Given the description of an element on the screen output the (x, y) to click on. 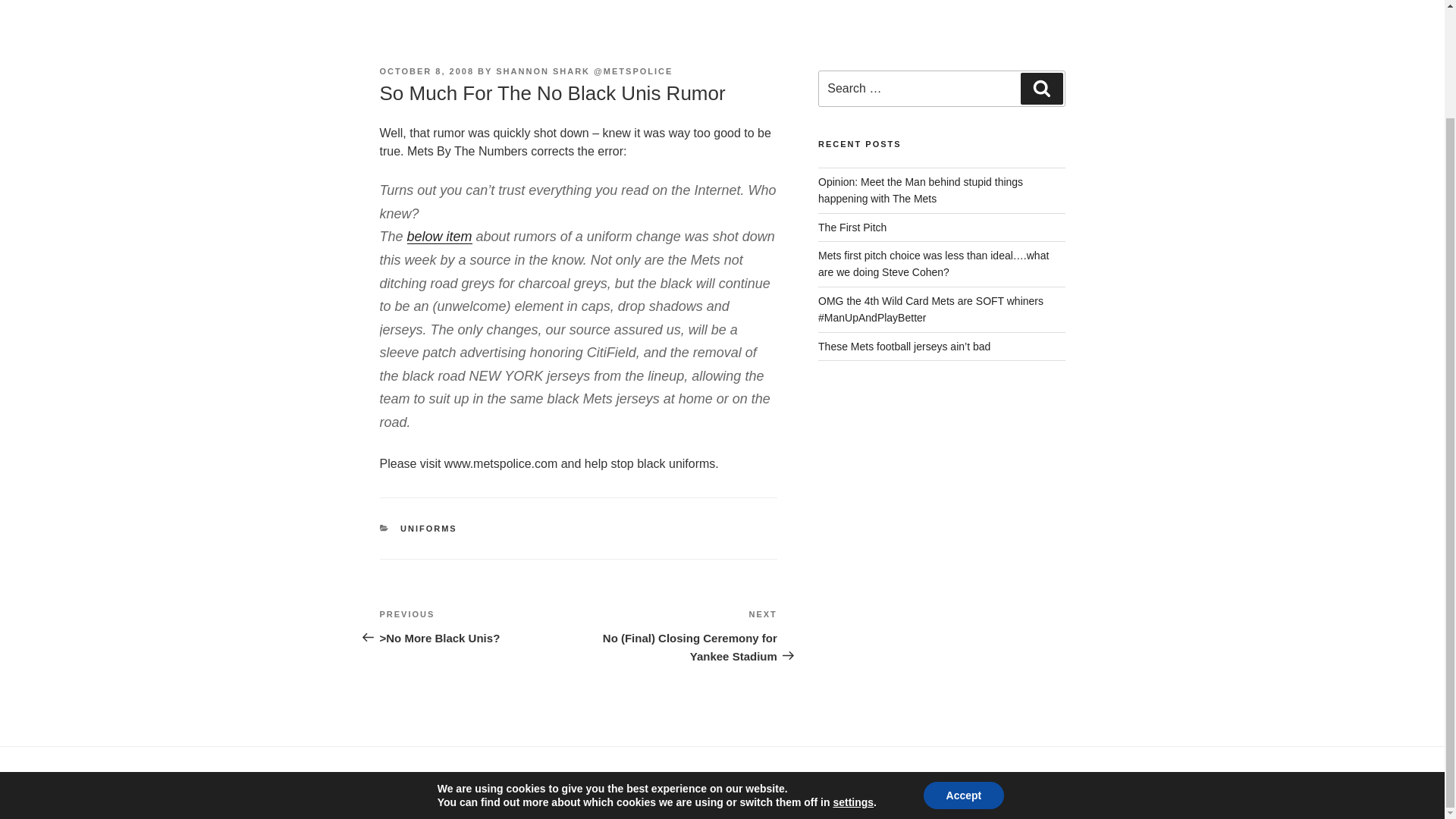
Search (1041, 88)
UNIFORMS (428, 528)
Privacy Policy (407, 783)
The First Pitch (852, 227)
Accept (963, 668)
Proudly powered by WordPress (527, 783)
below item (439, 236)
OCTOBER 8, 2008 (426, 71)
